Given the description of an element on the screen output the (x, y) to click on. 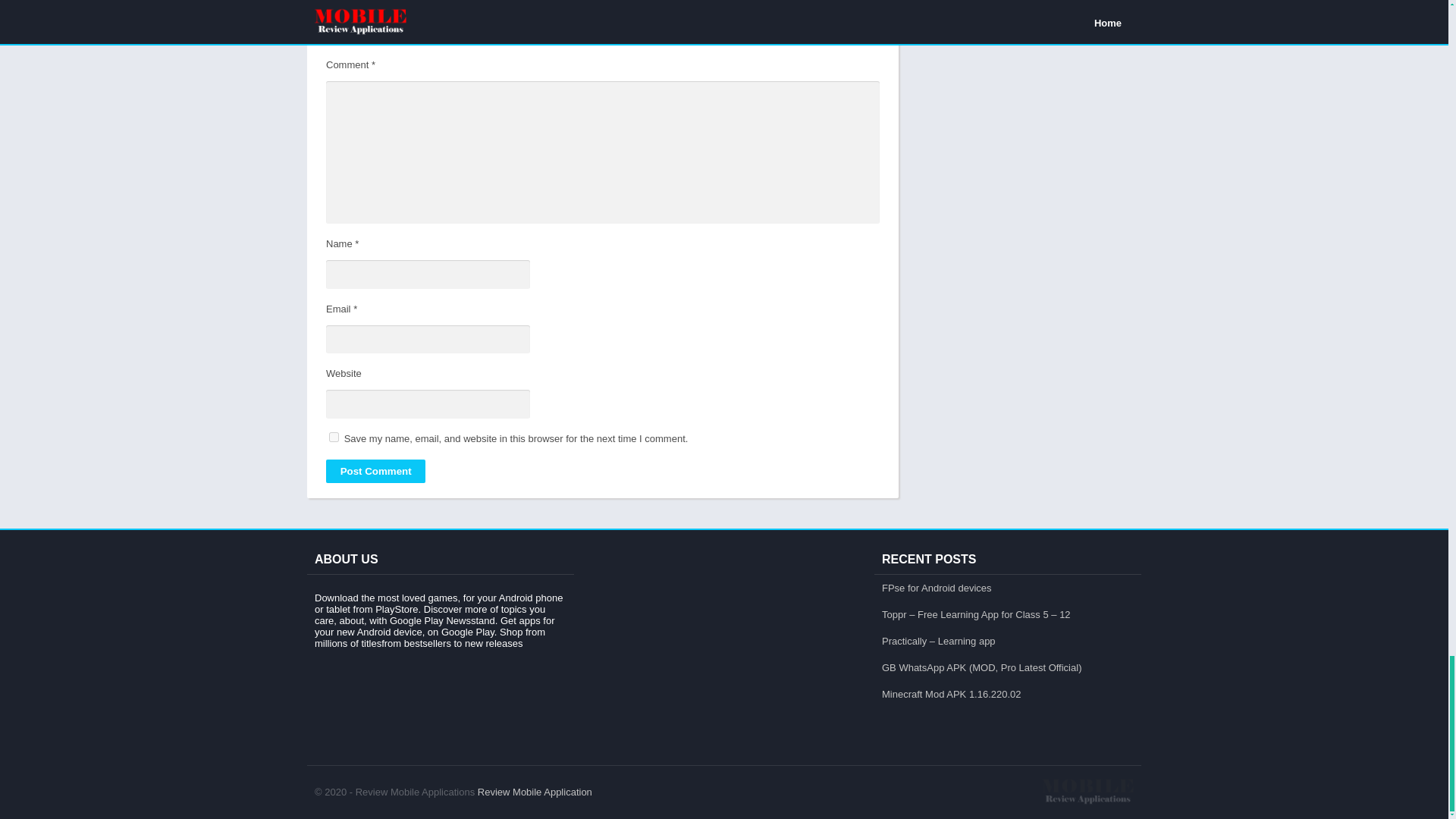
yes (334, 437)
Post Comment (375, 471)
Post Comment (375, 471)
